Given the description of an element on the screen output the (x, y) to click on. 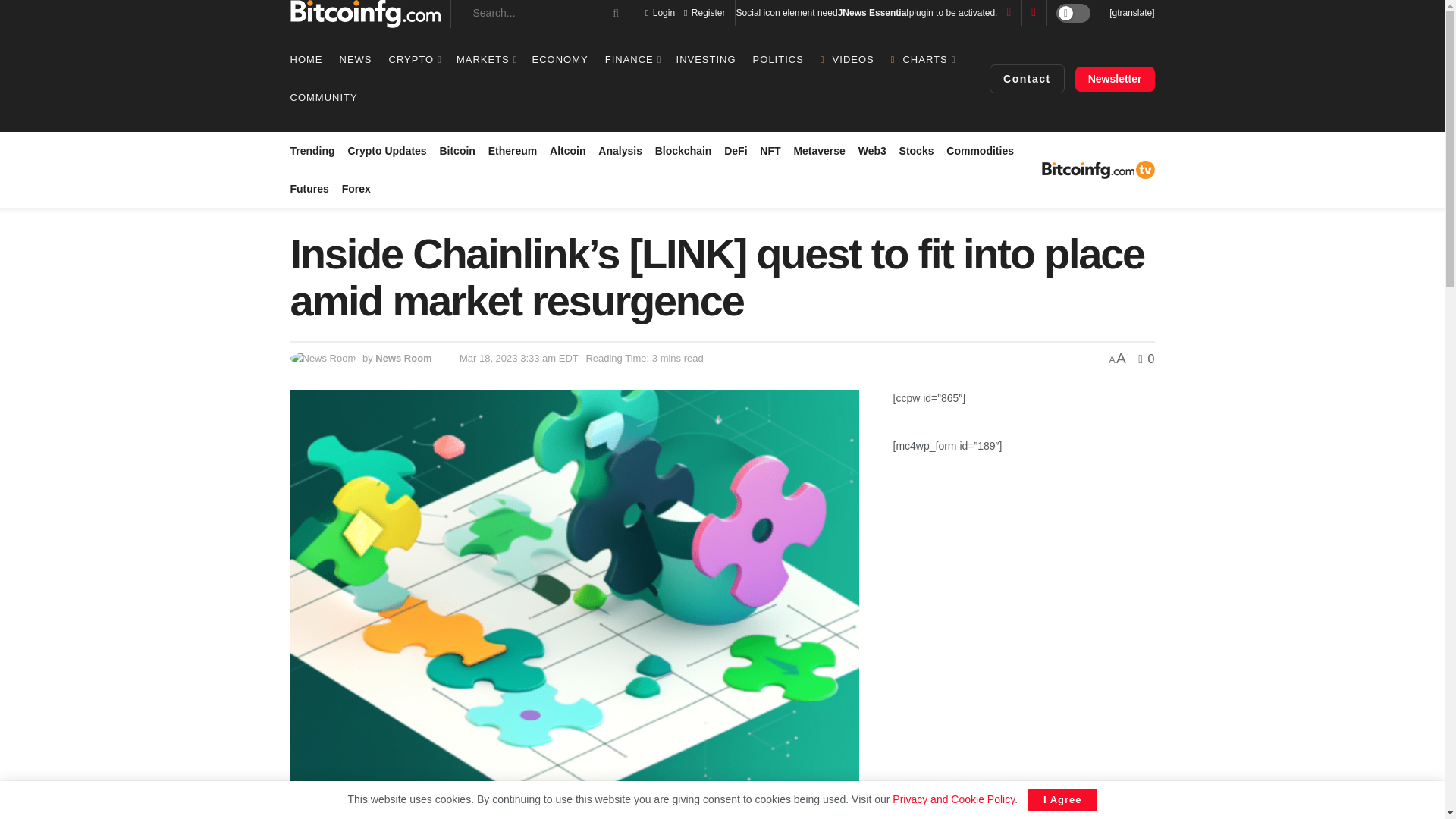
Login (660, 12)
MARKETS (486, 59)
Register (704, 12)
CRYPTO (413, 59)
